Given the description of an element on the screen output the (x, y) to click on. 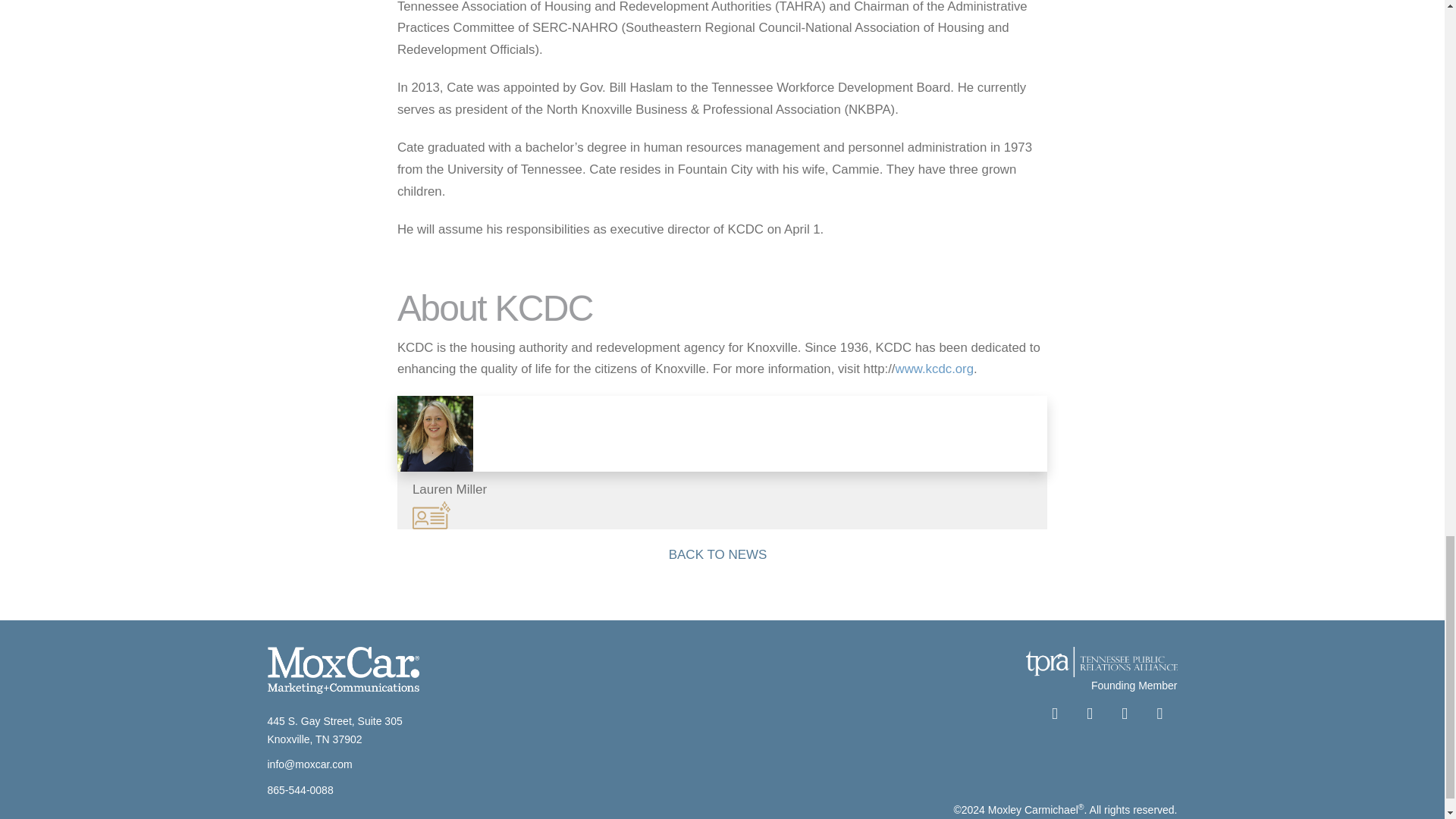
865-544-0088 (299, 789)
445 S. Gay Street, Suite 305 (333, 720)
Knoxville, TN 37902 (313, 739)
www.kcdc.org (934, 368)
BACK TO NEWS (722, 557)
Lauren Miller (721, 462)
